Given the description of an element on the screen output the (x, y) to click on. 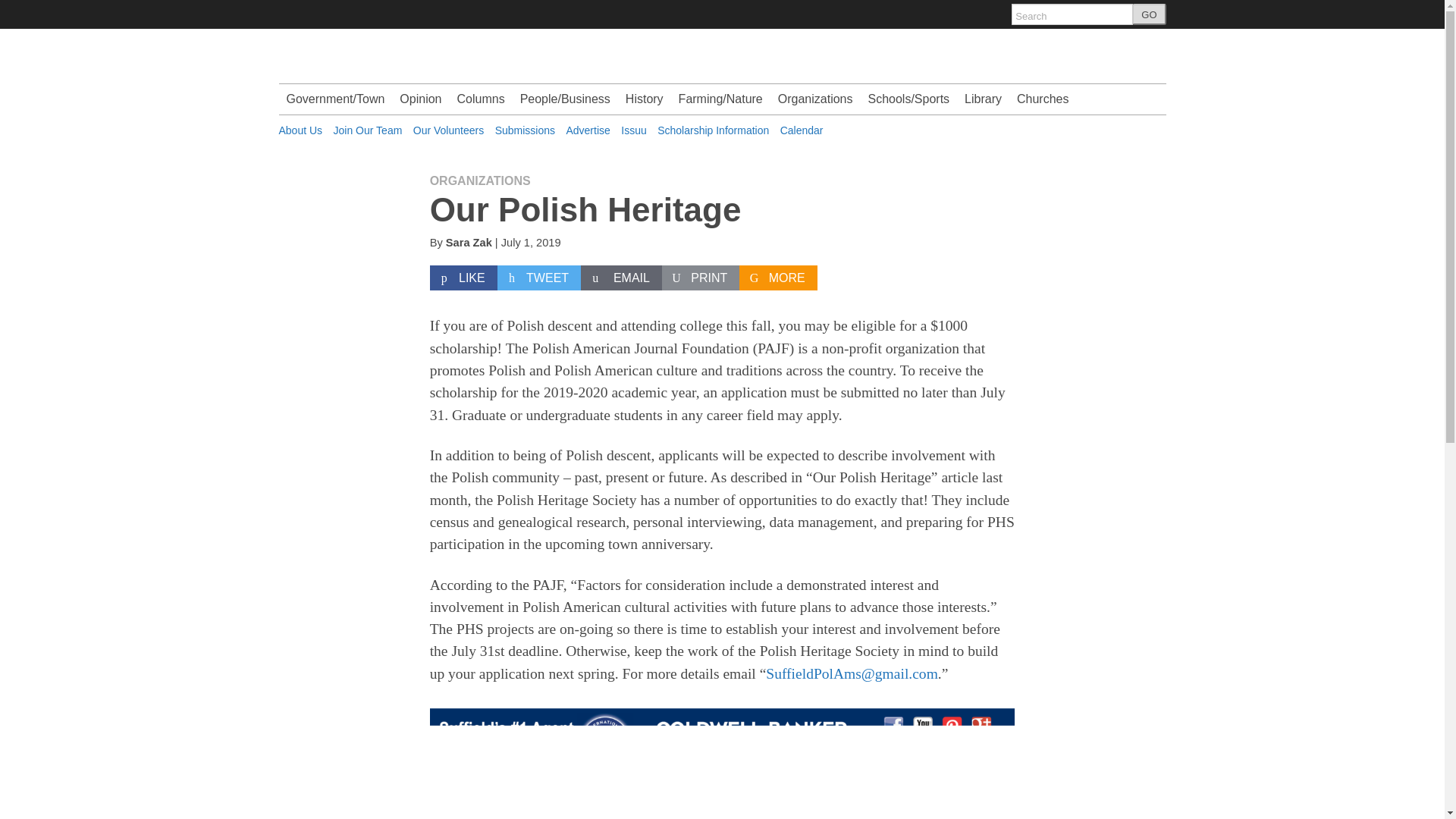
Issuu (633, 130)
History (644, 99)
Submissions (524, 130)
Calendar (802, 130)
Columns (480, 99)
Print this article (700, 278)
GO (1149, 14)
Sara Zak (468, 242)
Our Volunteers (448, 130)
About Us (301, 130)
Join Our Team (368, 130)
LIKE (463, 278)
Read Articles in the Organizations category (480, 180)
Library (982, 99)
Scholarship Information (713, 130)
